Given the description of an element on the screen output the (x, y) to click on. 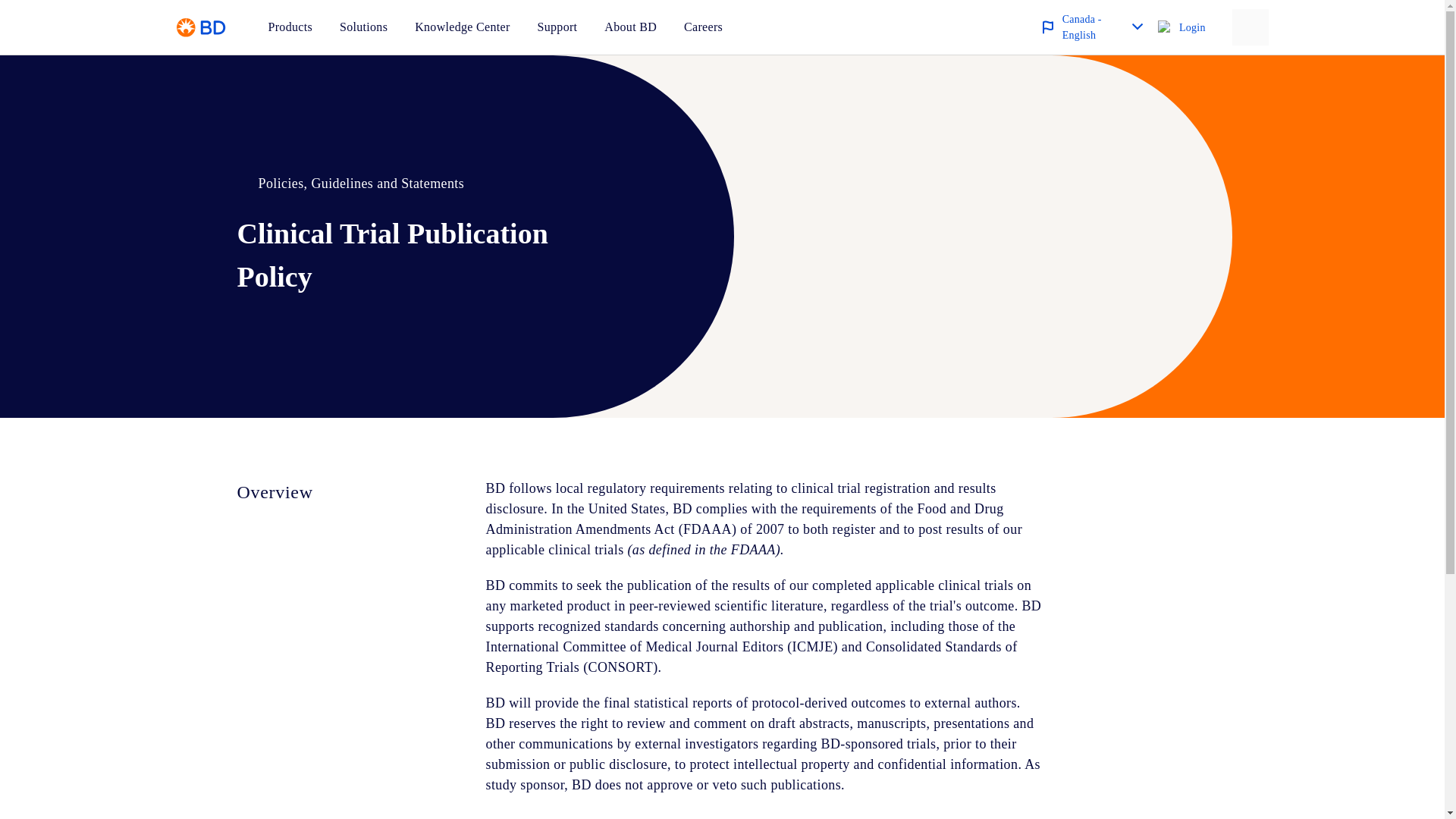
Support (557, 27)
About BD (630, 27)
Knowledge Center (461, 27)
Solutions (363, 27)
Products (290, 27)
